Given the description of an element on the screen output the (x, y) to click on. 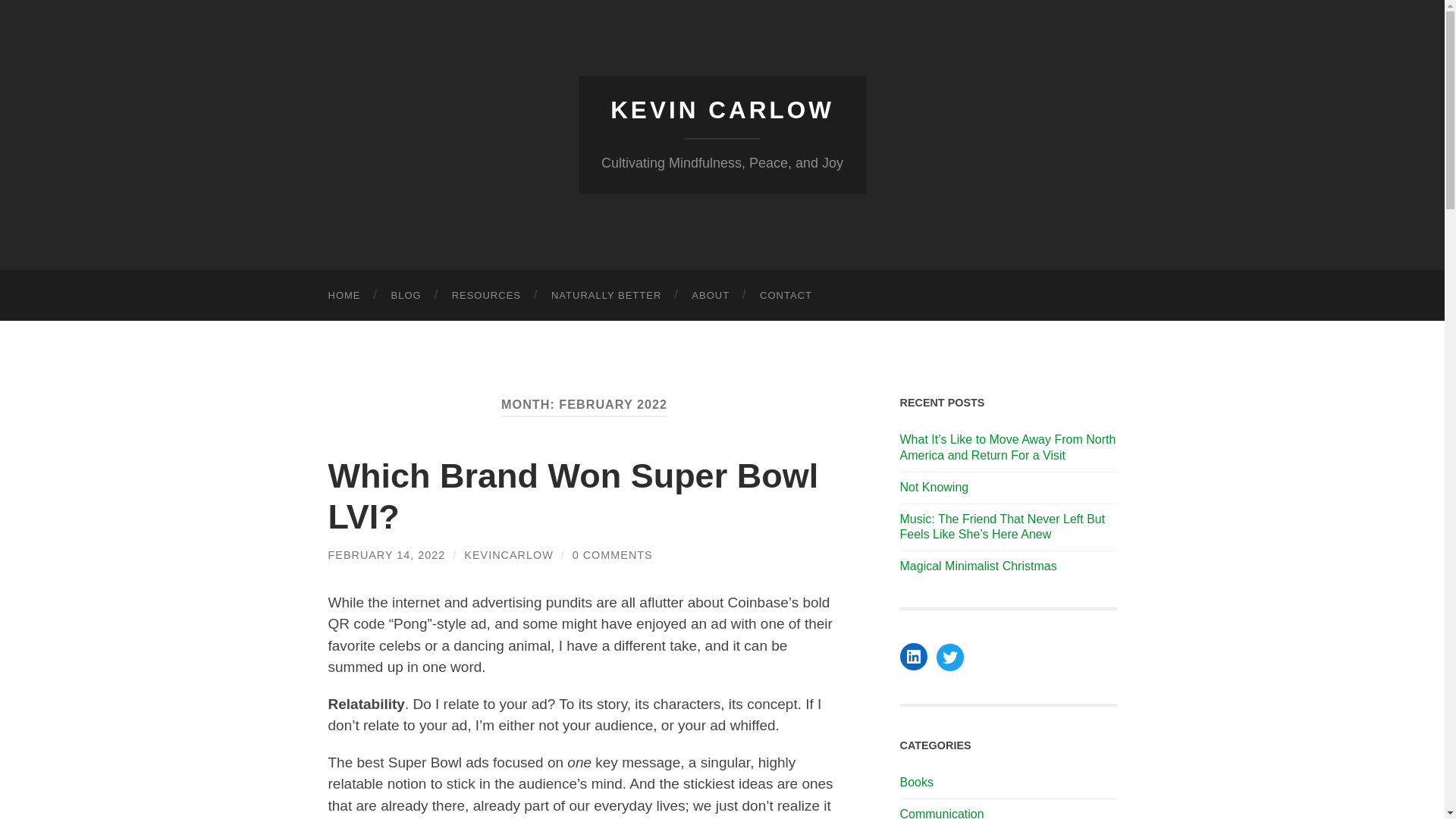
Books (916, 781)
Magical Minimalist Christmas (1007, 566)
NATURALLY BETTER (606, 295)
0 COMMENTS (612, 554)
RESOURCES (485, 295)
Which Brand Won Super Bowl LVI? (572, 496)
KEVINCARLOW (508, 554)
HOME (344, 295)
CONTACT (785, 295)
FEBRUARY 14, 2022 (386, 554)
